Given the description of an element on the screen output the (x, y) to click on. 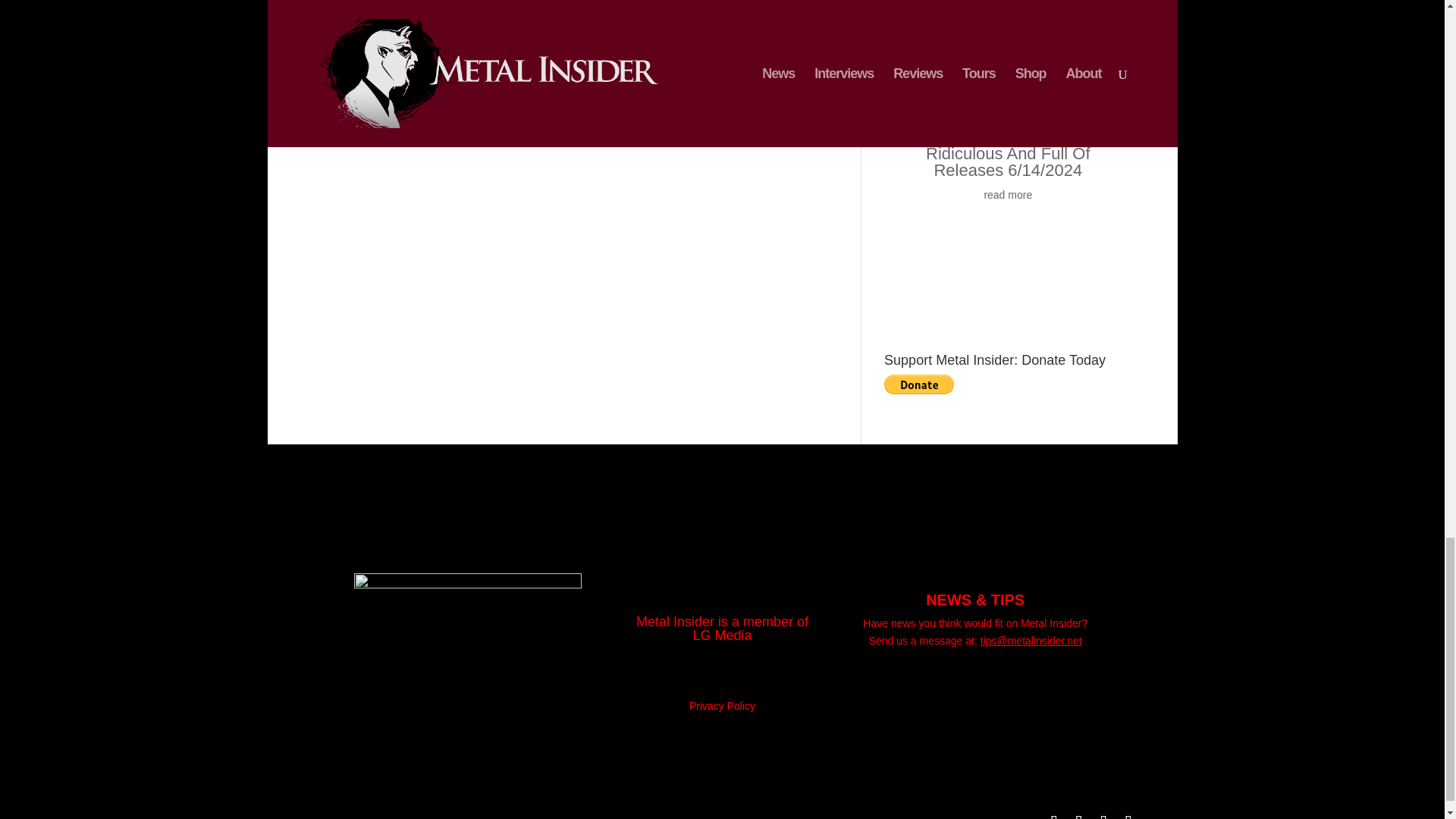
read more (1007, 2)
